Given the description of an element on the screen output the (x, y) to click on. 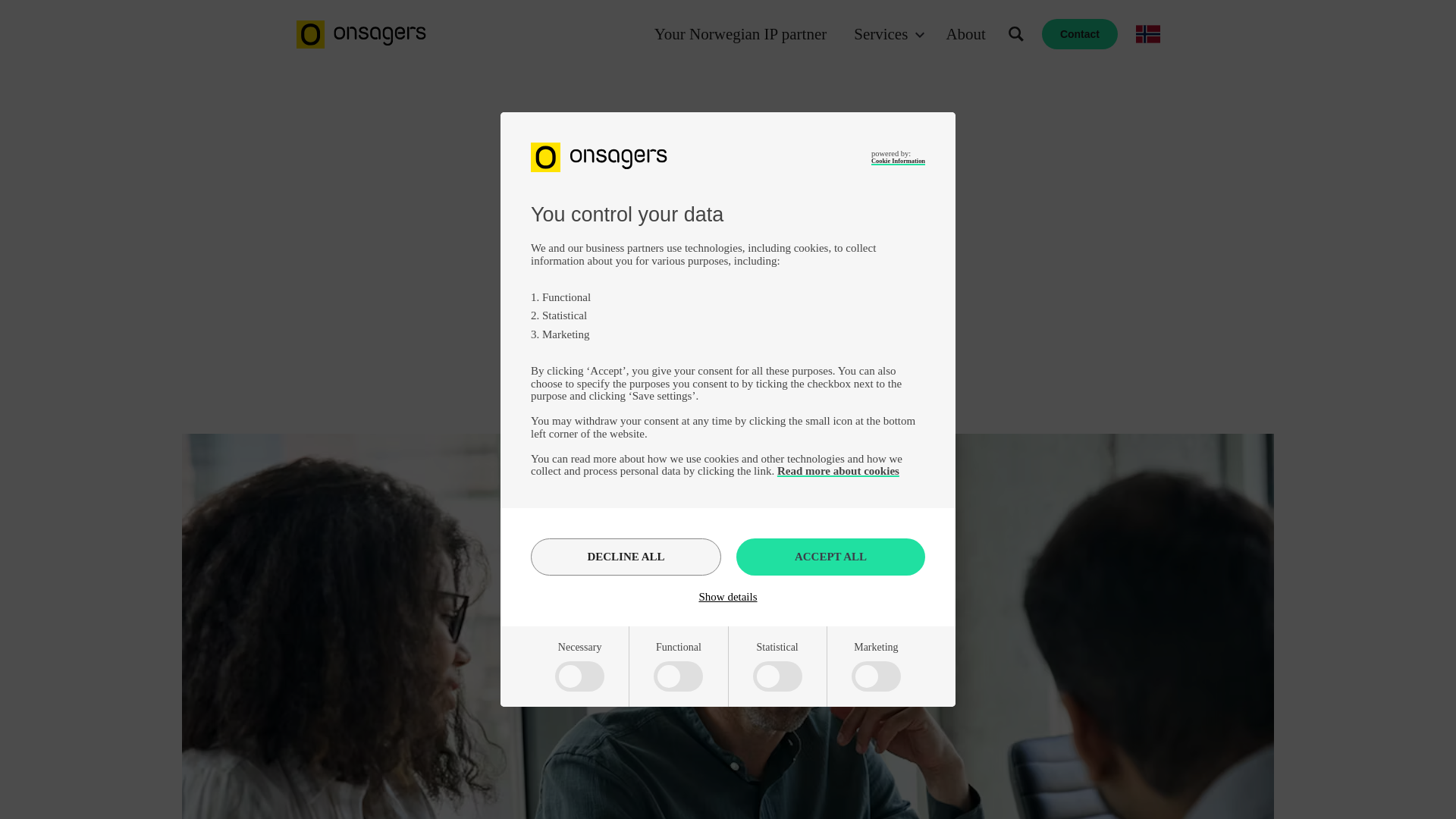
ACCEPT ALL (830, 556)
DECLINE ALL (625, 556)
Cookie Information (897, 161)
Show details (727, 596)
Read more about cookies (838, 470)
